Given the description of an element on the screen output the (x, y) to click on. 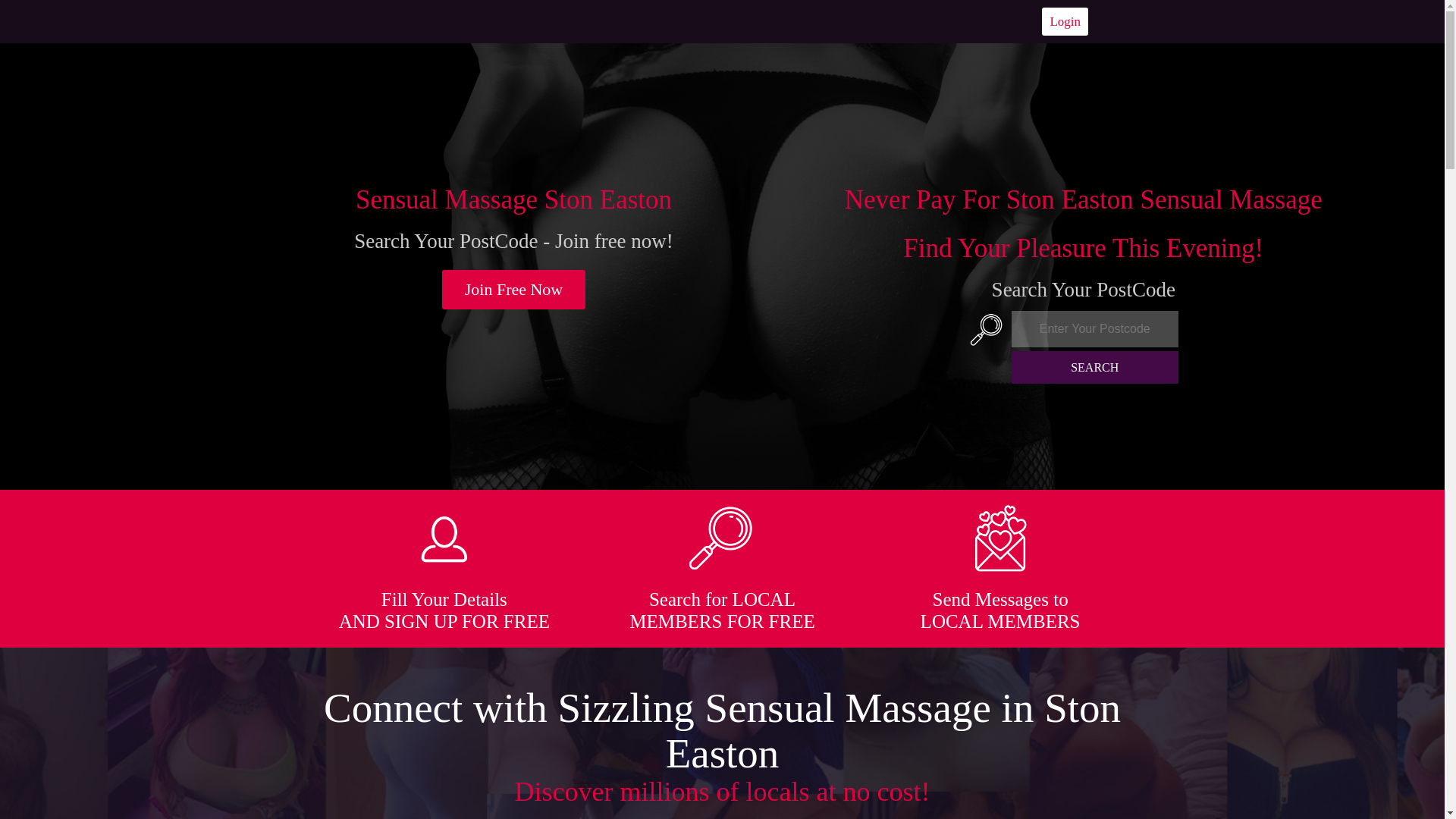
Join Free Now (514, 289)
SEARCH (1094, 367)
Login (1064, 21)
Login (1064, 21)
Join (514, 289)
